Given the description of an element on the screen output the (x, y) to click on. 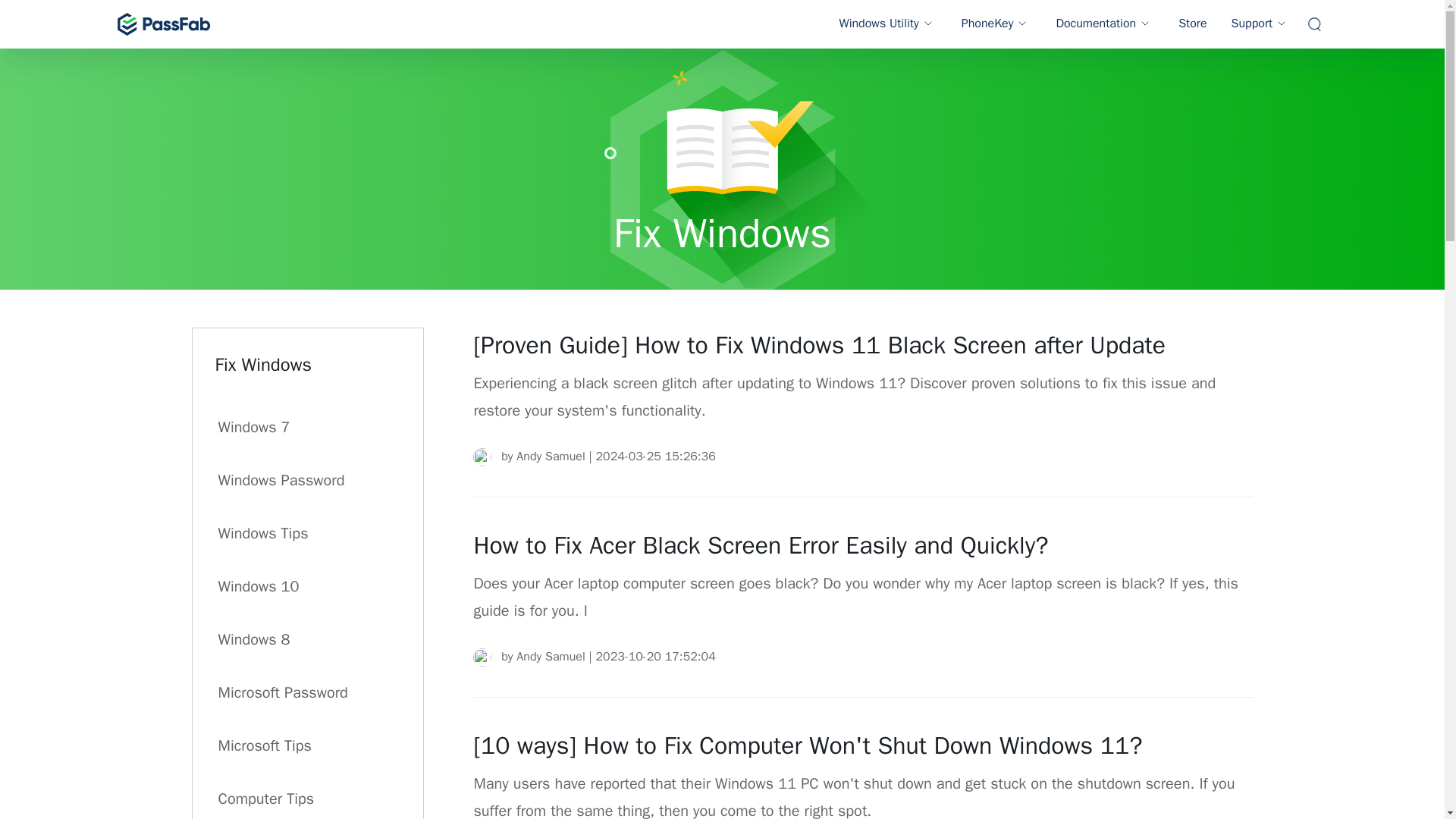
PhoneKey (996, 24)
Windows Utility (888, 24)
Documentation (1104, 24)
